Given the description of an element on the screen output the (x, y) to click on. 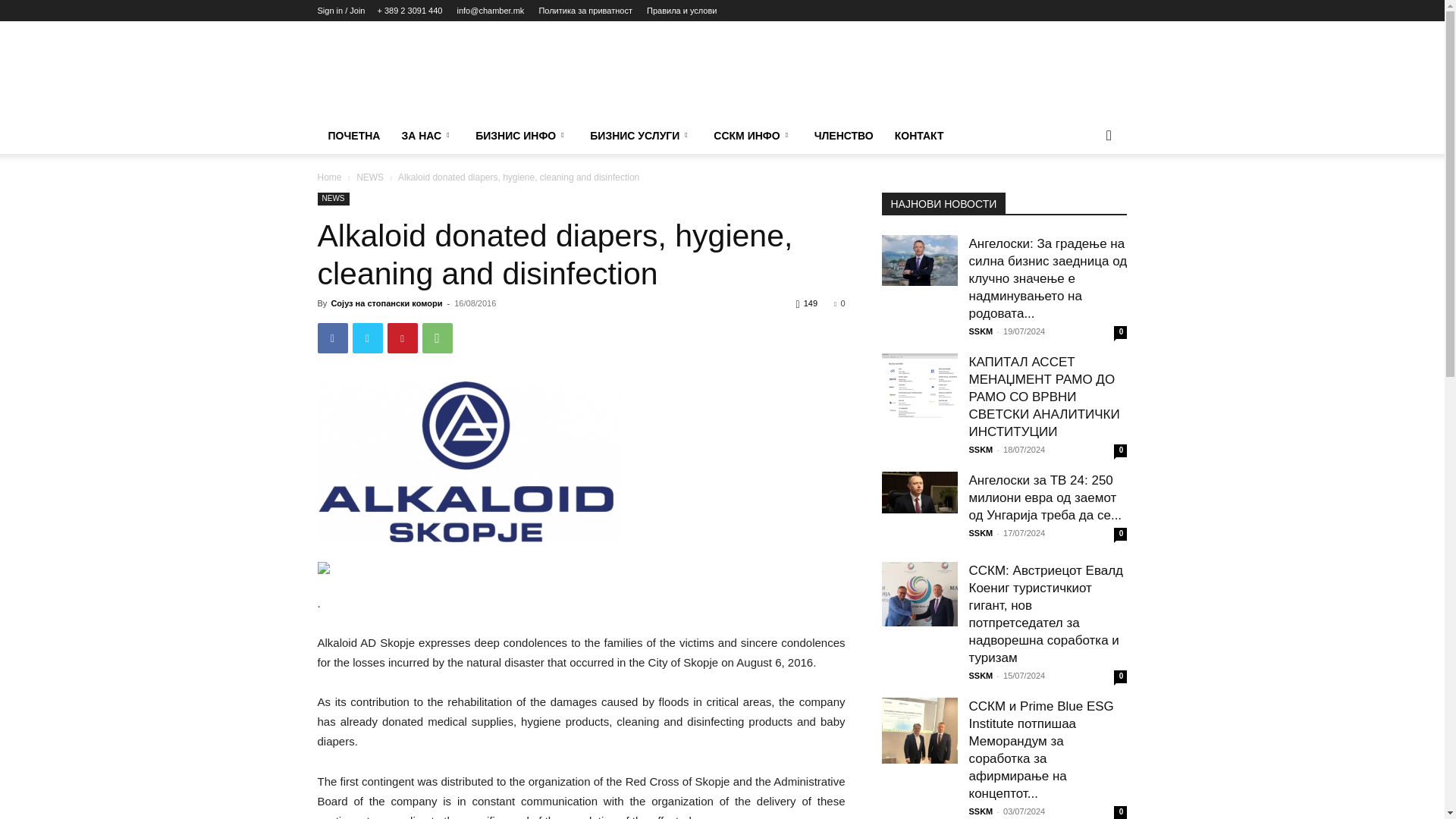
Twitter (366, 337)
View all posts in NEWS (370, 176)
Pinterest (401, 337)
WhatsApp (436, 337)
Facebook (332, 337)
